Given the description of an element on the screen output the (x, y) to click on. 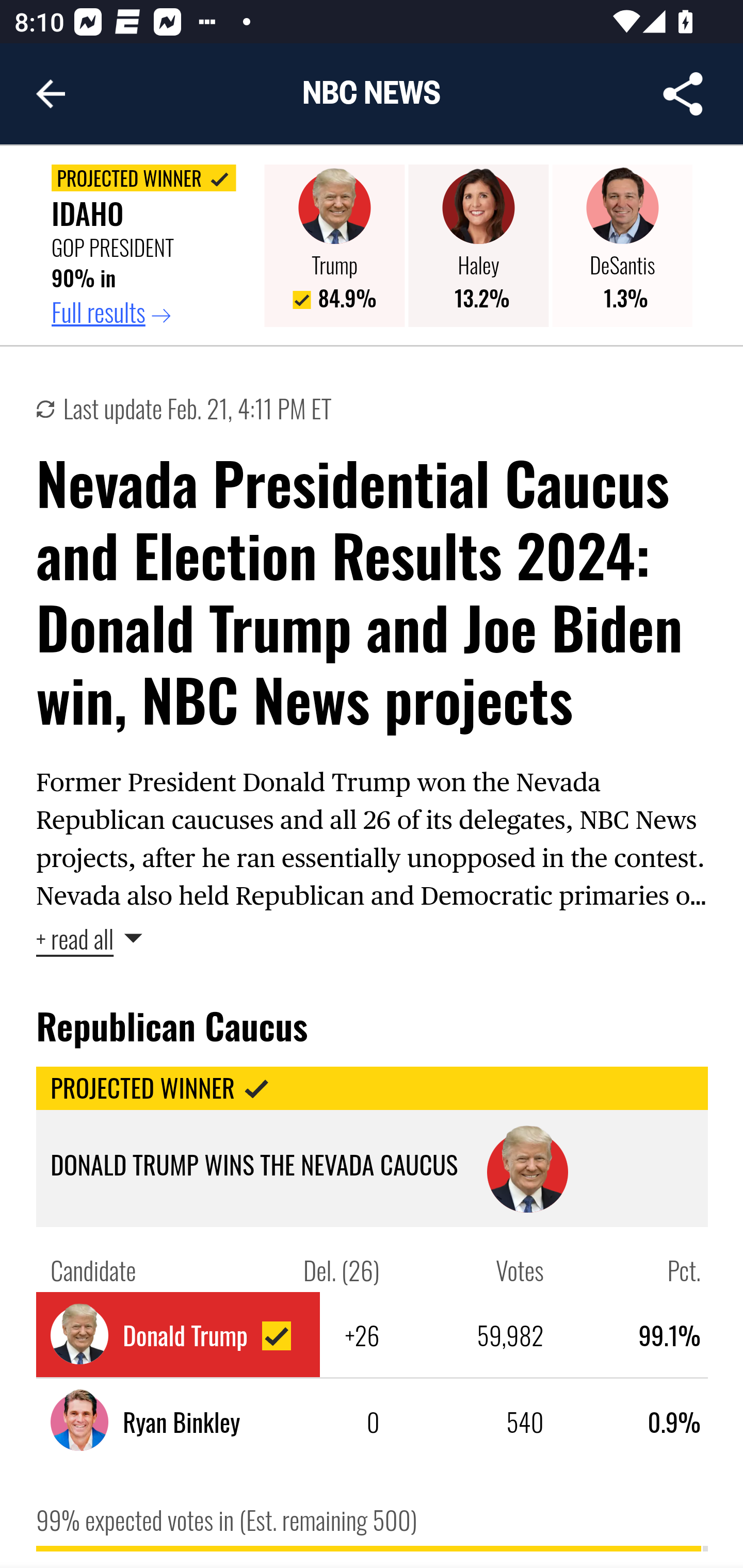
Navigate up (50, 93)
Share Article, button (683, 94)
Full results (150, 312)
+ read all (90, 937)
